Given the description of an element on the screen output the (x, y) to click on. 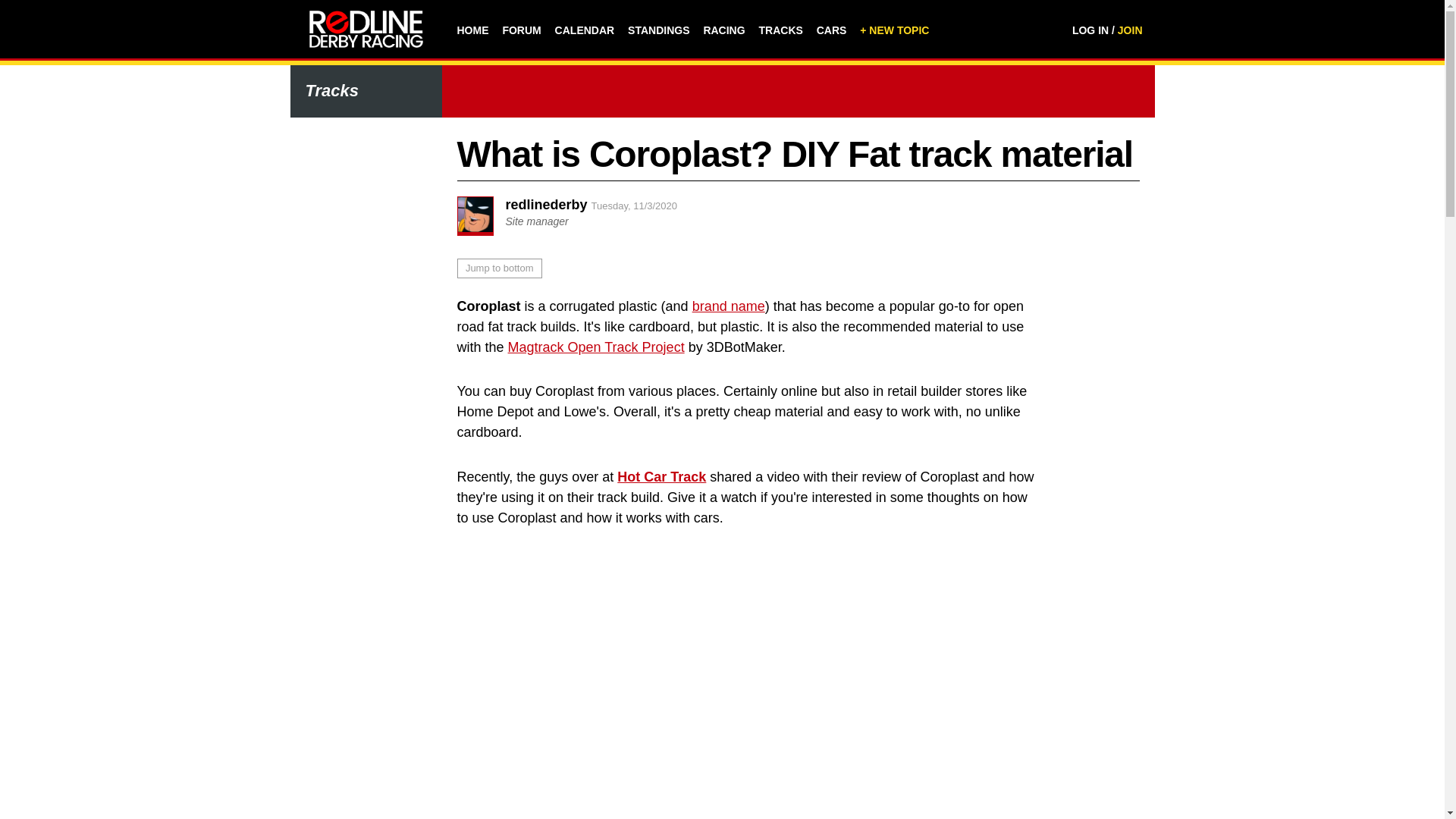
redlinederby (545, 204)
RACING (723, 30)
HOME (472, 30)
TRACKS (780, 30)
Jump to bottom (499, 267)
Hot Car Track (661, 476)
Magtrack Open Track Project (596, 346)
CALENDAR (584, 30)
Jump to bottom (499, 267)
FORUM (521, 30)
